Given the description of an element on the screen output the (x, y) to click on. 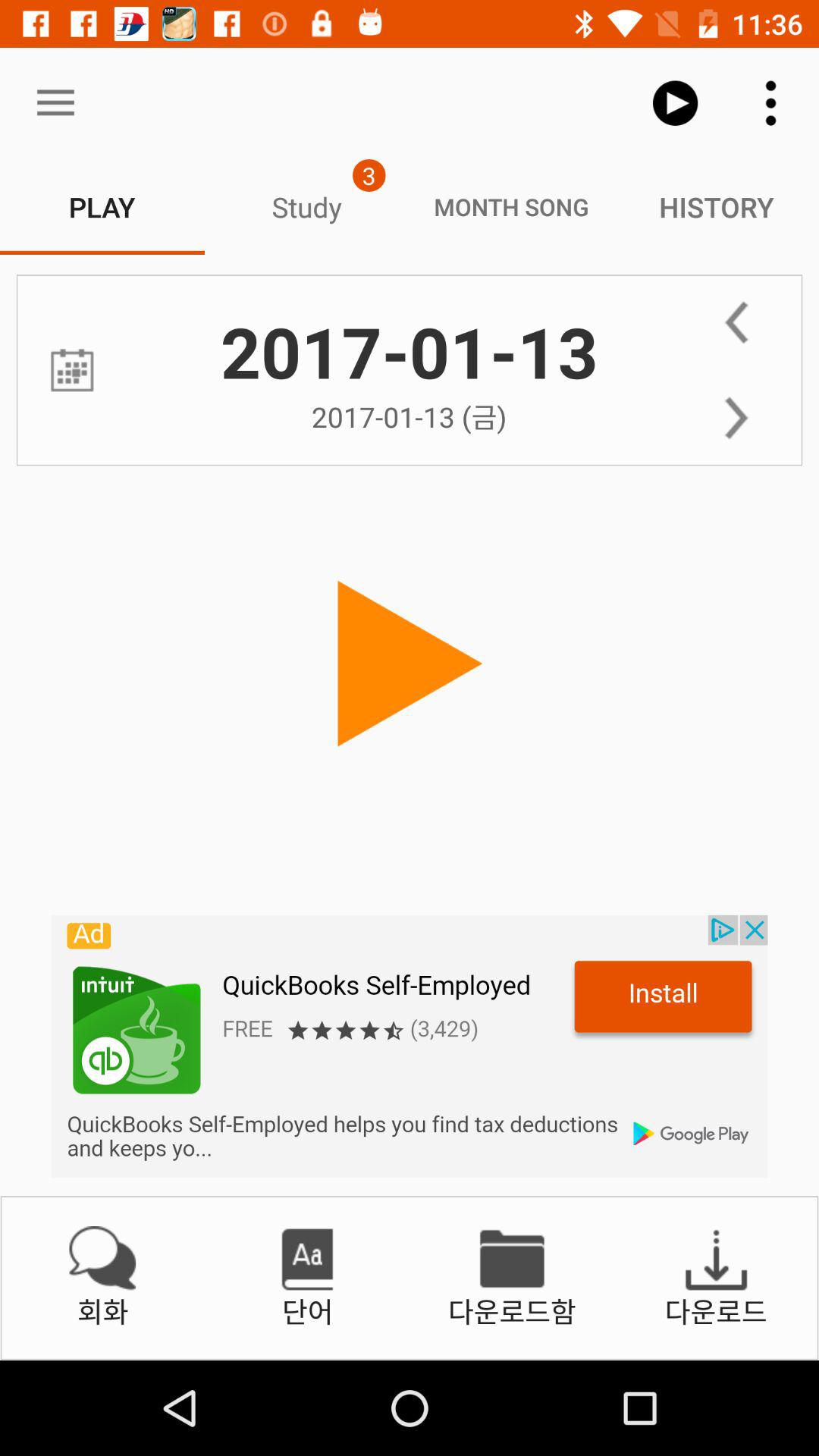
click advertisement (409, 1046)
